Given the description of an element on the screen output the (x, y) to click on. 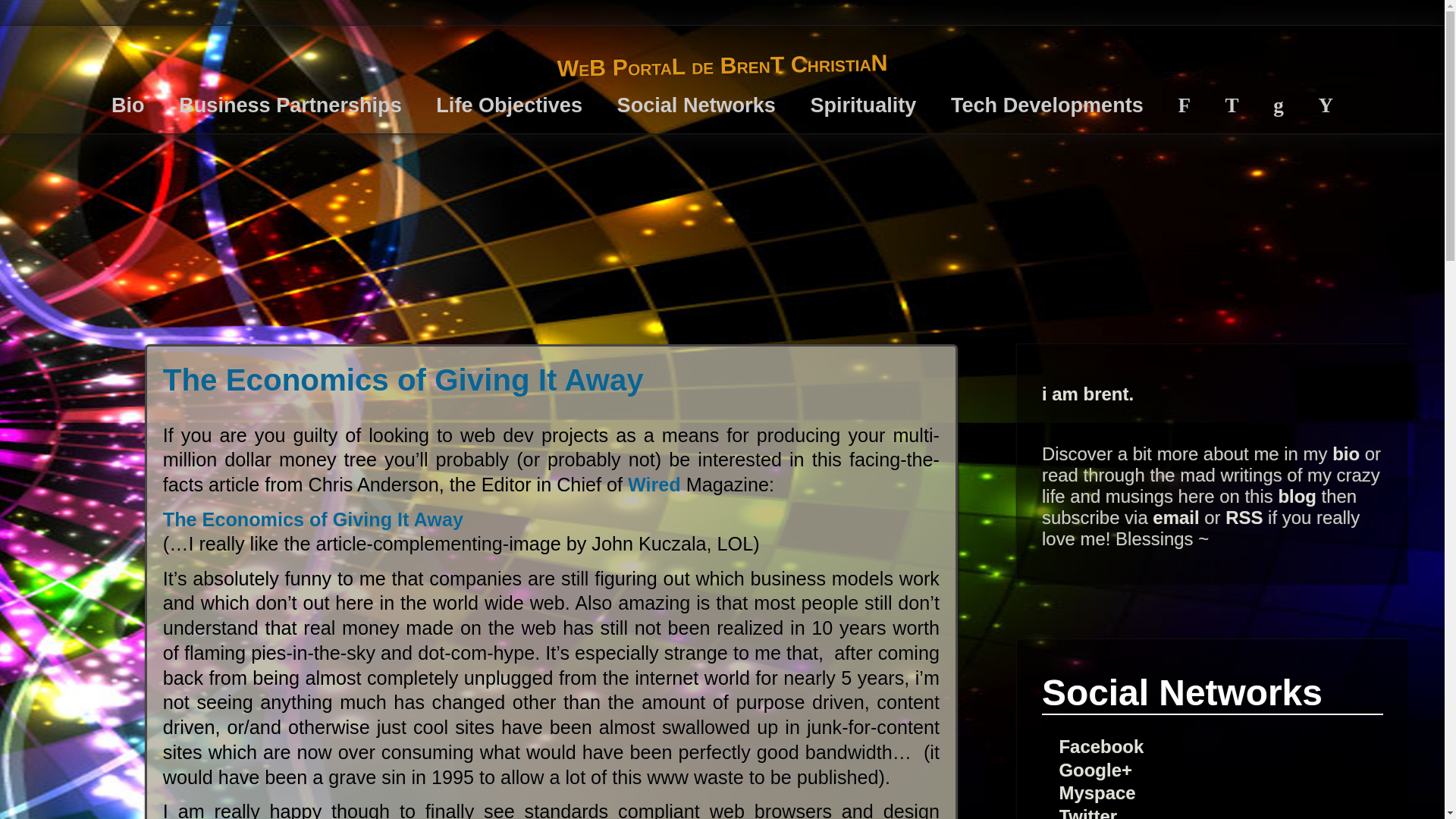
Social Networks (696, 105)
Bio (128, 105)
Spirituality (862, 105)
The Economics of Giving It Away (313, 518)
Business Partnerships (290, 105)
Life Objectives (508, 105)
The Economics of Giving It Away (403, 379)
Wired (654, 484)
Tech Developments (1046, 105)
The Economics of Giving It Away (403, 379)
